Given the description of an element on the screen output the (x, y) to click on. 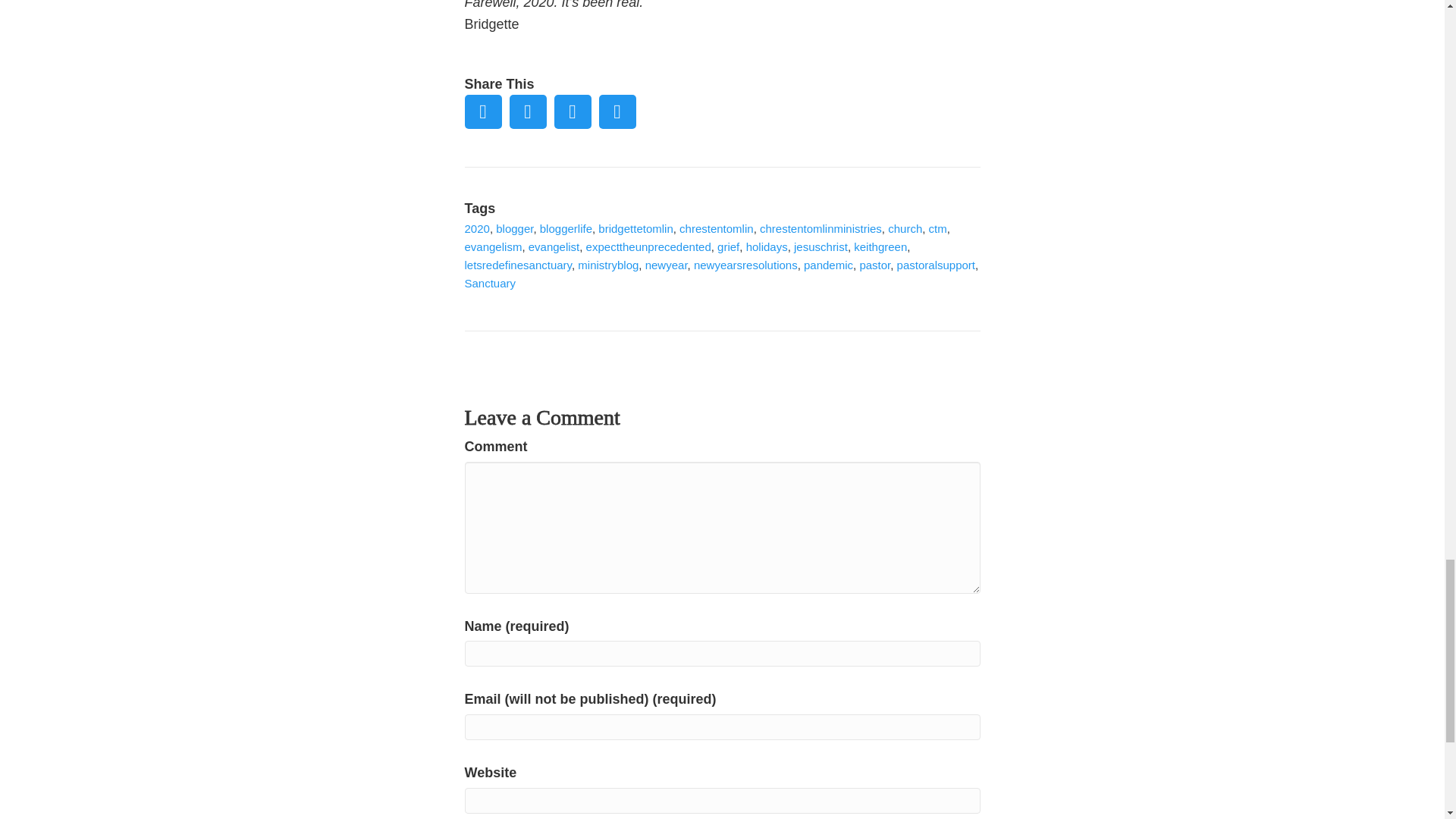
church (904, 228)
keithgreen (880, 246)
grief (728, 246)
ctm (937, 228)
holidays (766, 246)
jesuschrist (820, 246)
chrestentomlinministries (821, 228)
expecttheunprecedented (648, 246)
bloggerlife (566, 228)
bridgettetomlin (635, 228)
2020 (476, 228)
chrestentomlin (716, 228)
blogger (514, 228)
evangelist (553, 246)
evangelism (492, 246)
